Given the description of an element on the screen output the (x, y) to click on. 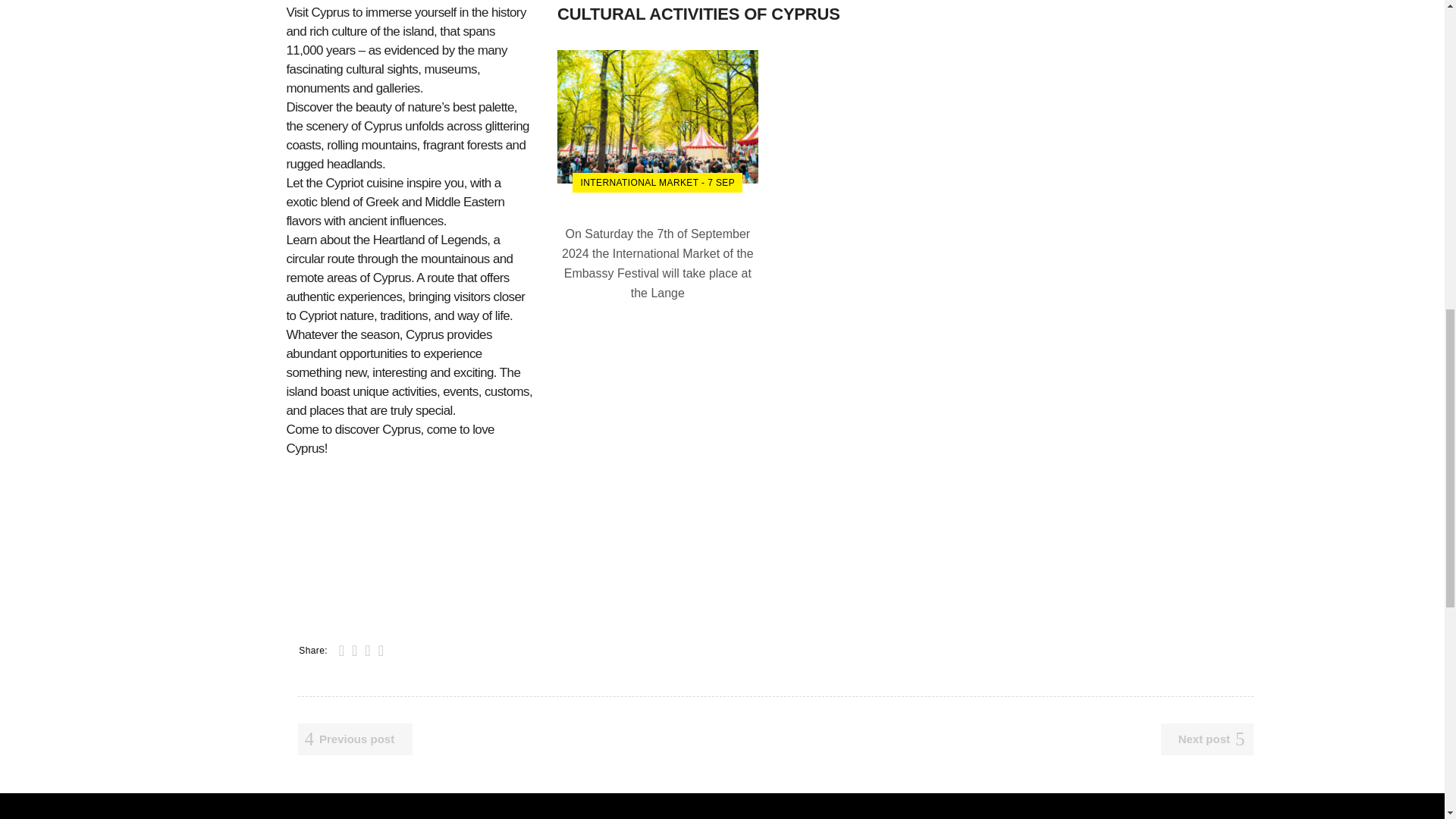
LOGO-VLAG-CYPRUS (410, 544)
Next post (1206, 739)
INTERNATIONAL MARKET - 7 SEP (657, 182)
Previous post (354, 739)
